Given the description of an element on the screen output the (x, y) to click on. 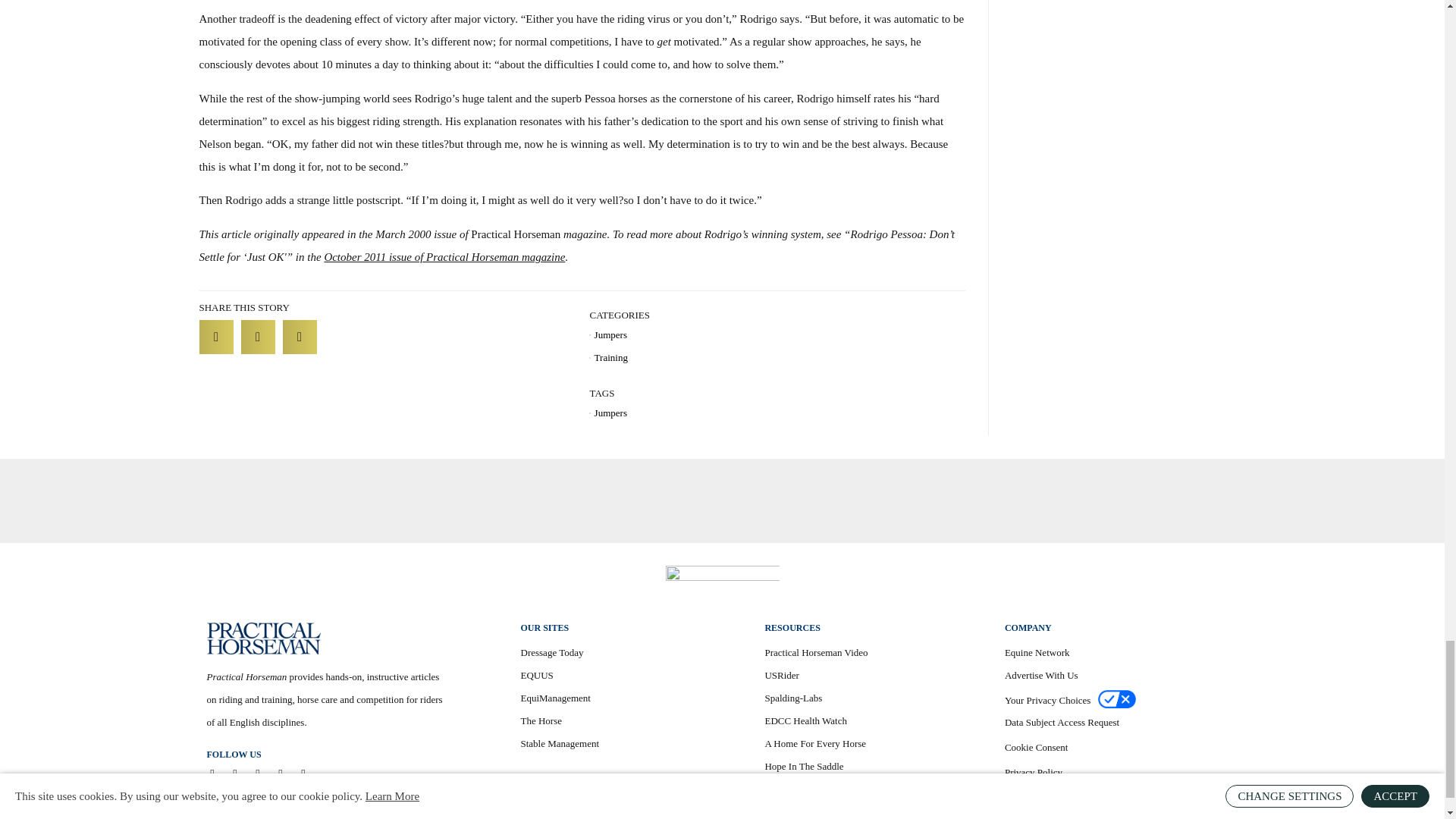
3rd party ad content (721, 500)
